Given the description of an element on the screen output the (x, y) to click on. 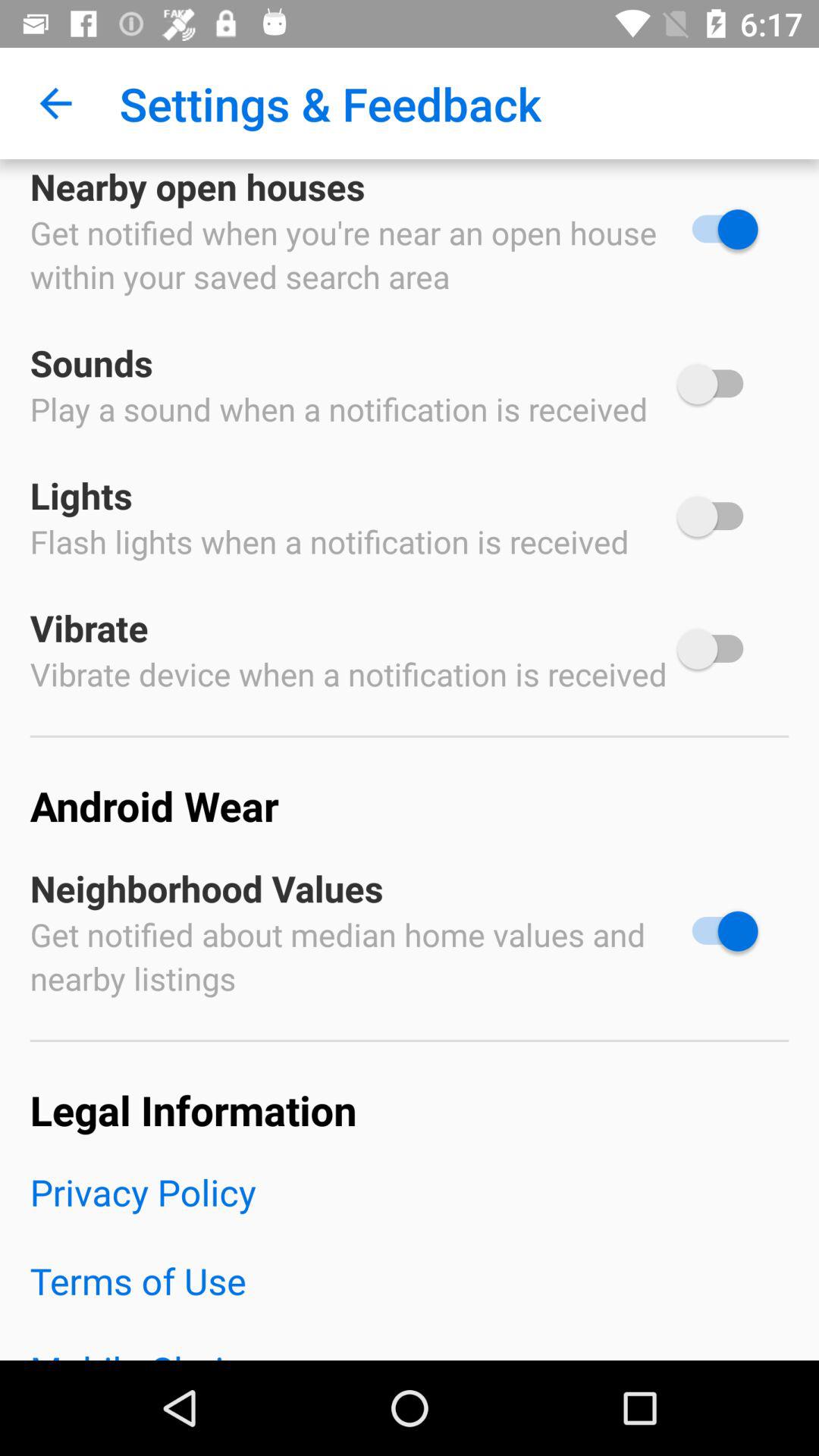
click the terms of use (409, 1300)
